Given the description of an element on the screen output the (x, y) to click on. 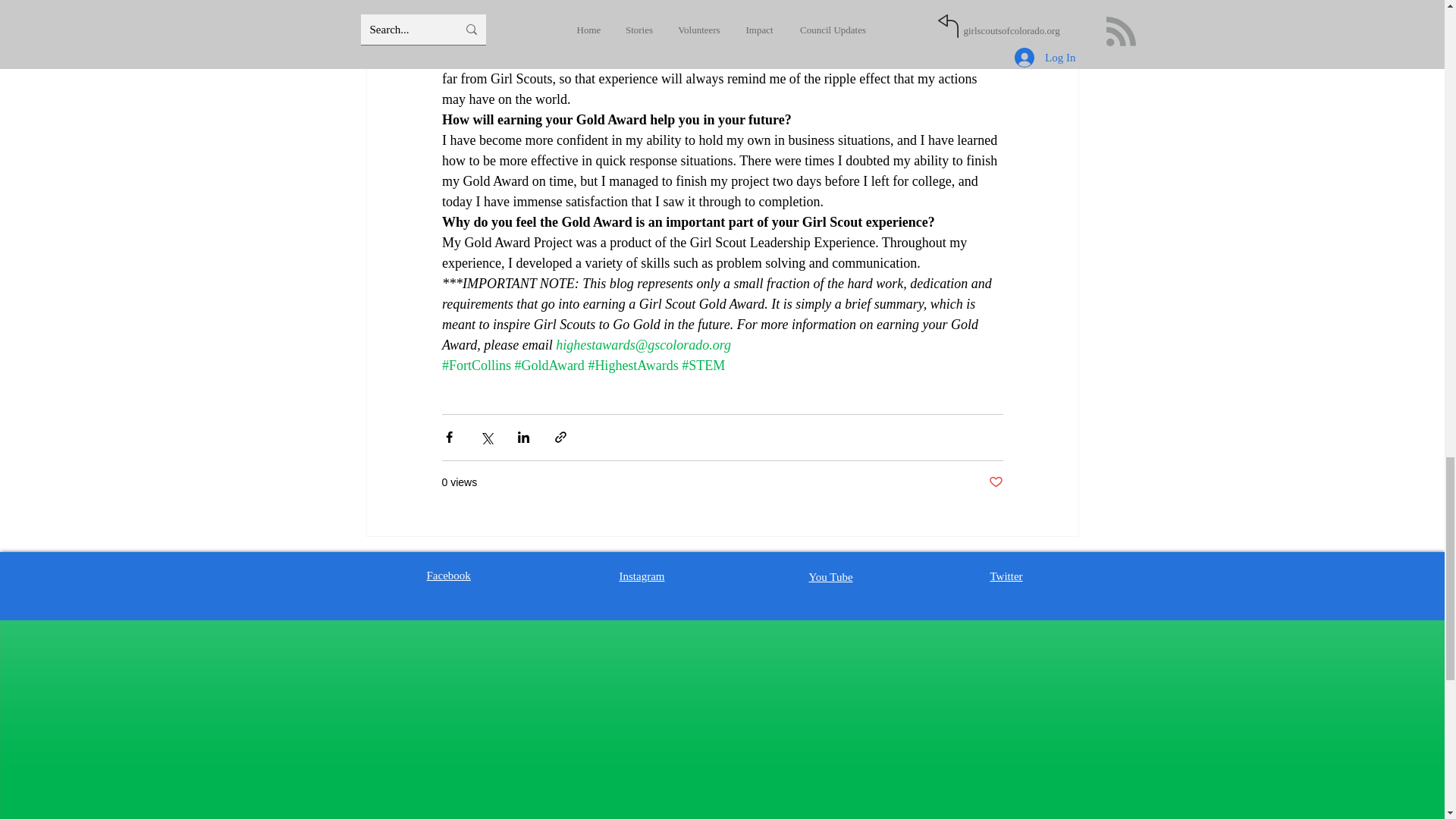
Facebook (448, 575)
You Tube (829, 576)
Post not marked as liked (995, 482)
Twitter (1006, 576)
Instagram (640, 576)
